Given the description of an element on the screen output the (x, y) to click on. 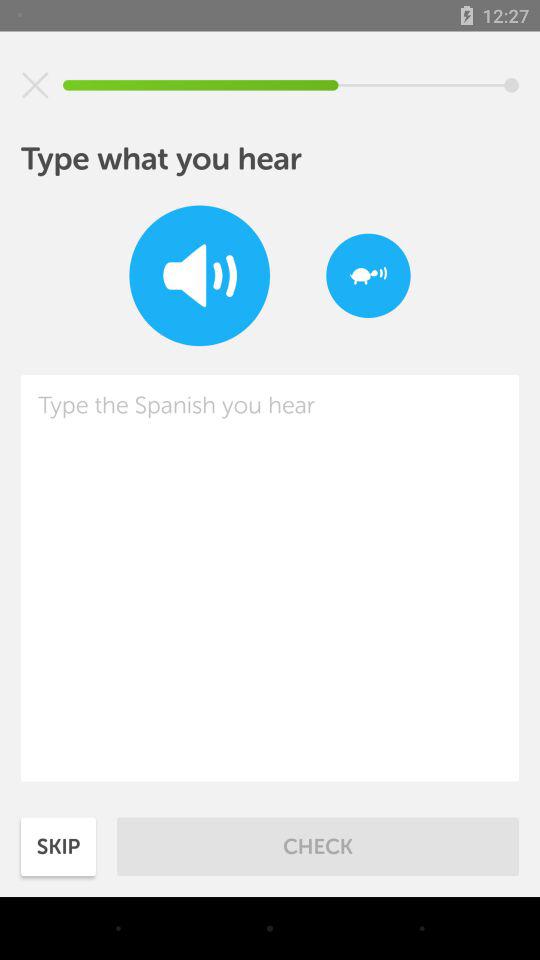
stop/close recording (35, 85)
